Given the description of an element on the screen output the (x, y) to click on. 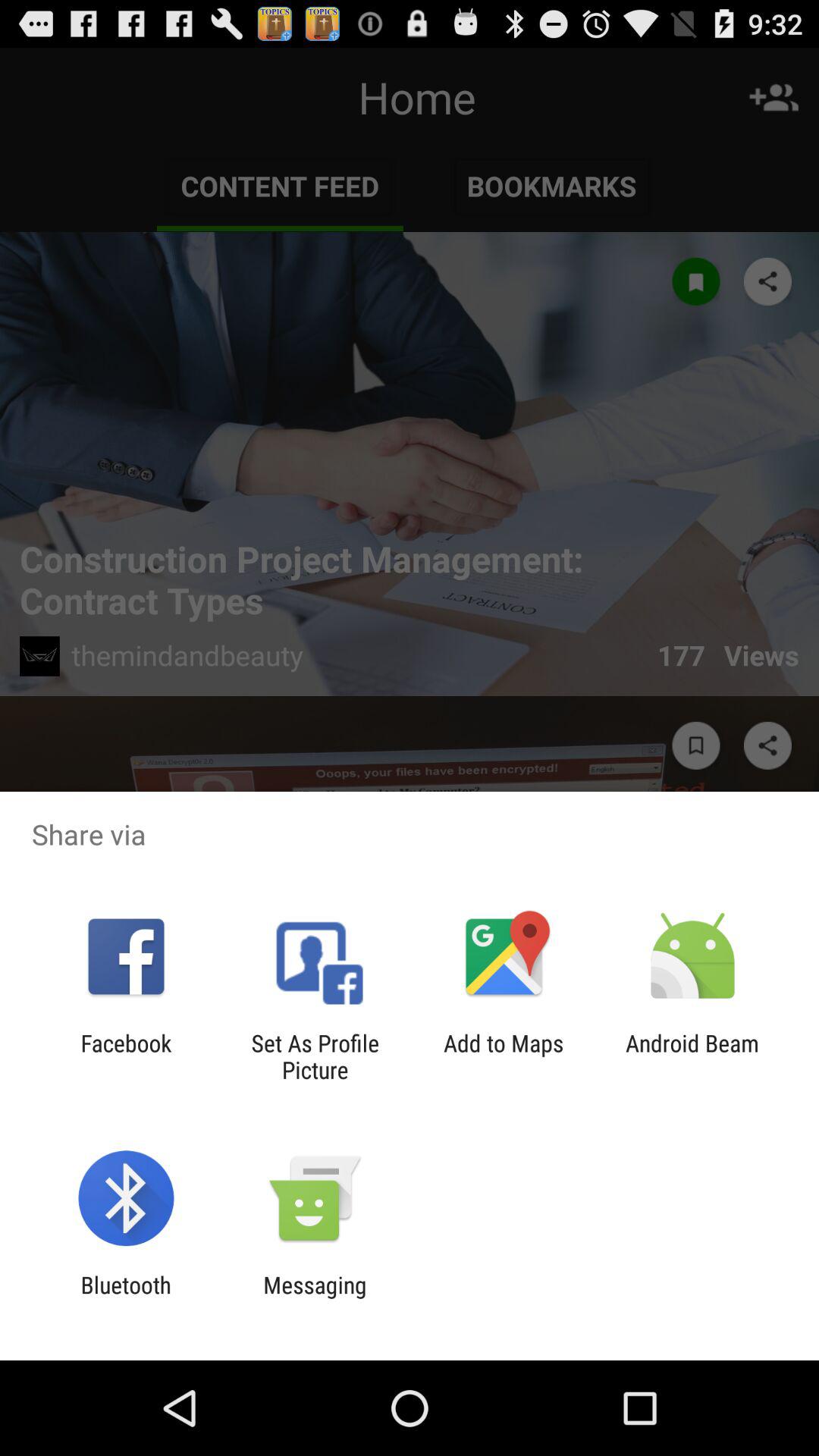
press the facebook icon (125, 1056)
